Given the description of an element on the screen output the (x, y) to click on. 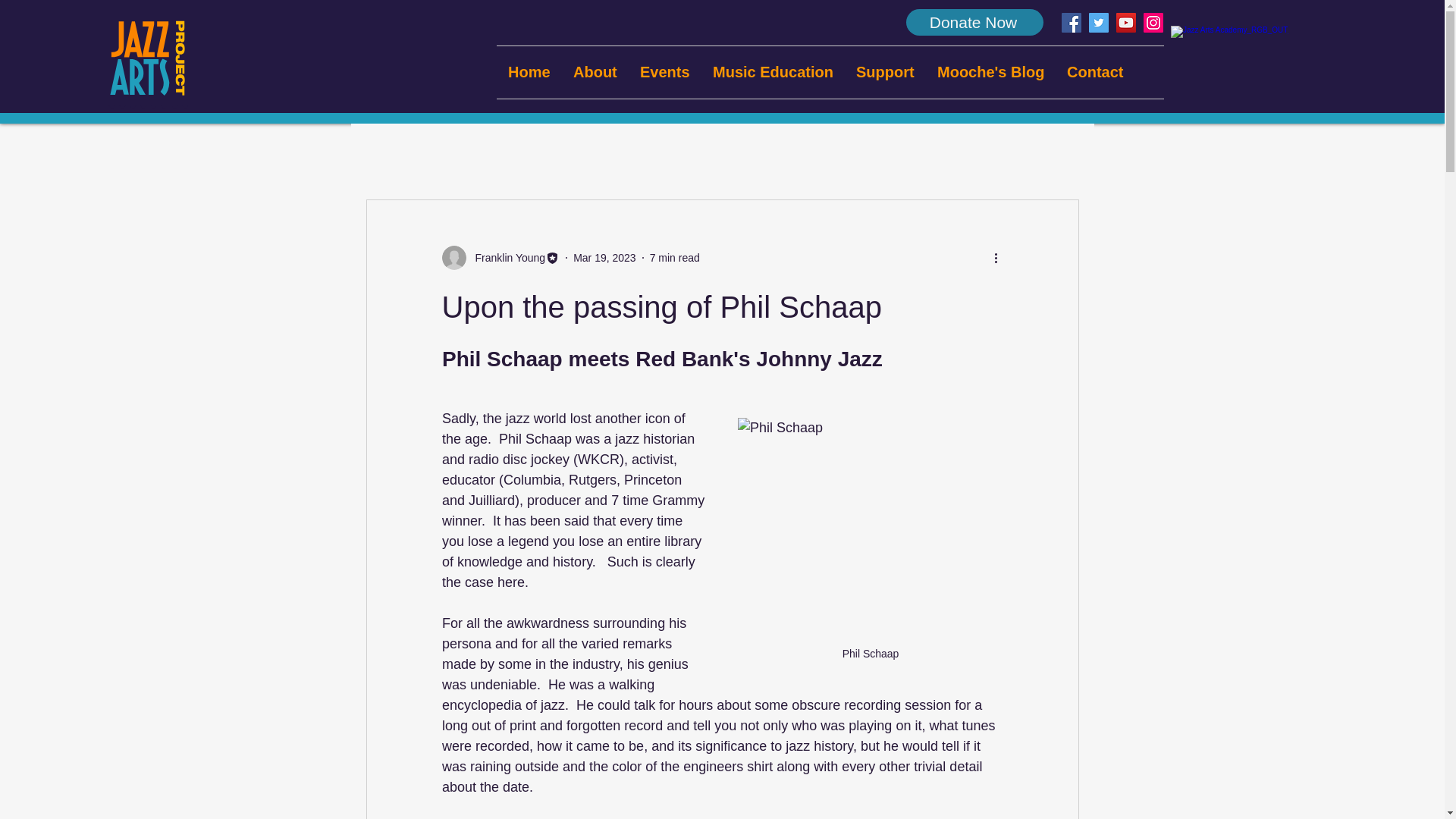
Mooche's Blog (990, 71)
Donate Now (974, 22)
7 min read (674, 257)
Franklin Young (504, 258)
Home (529, 71)
Contact (1094, 71)
Mar 19, 2023 (604, 257)
Franklin Young (500, 257)
